Given the description of an element on the screen output the (x, y) to click on. 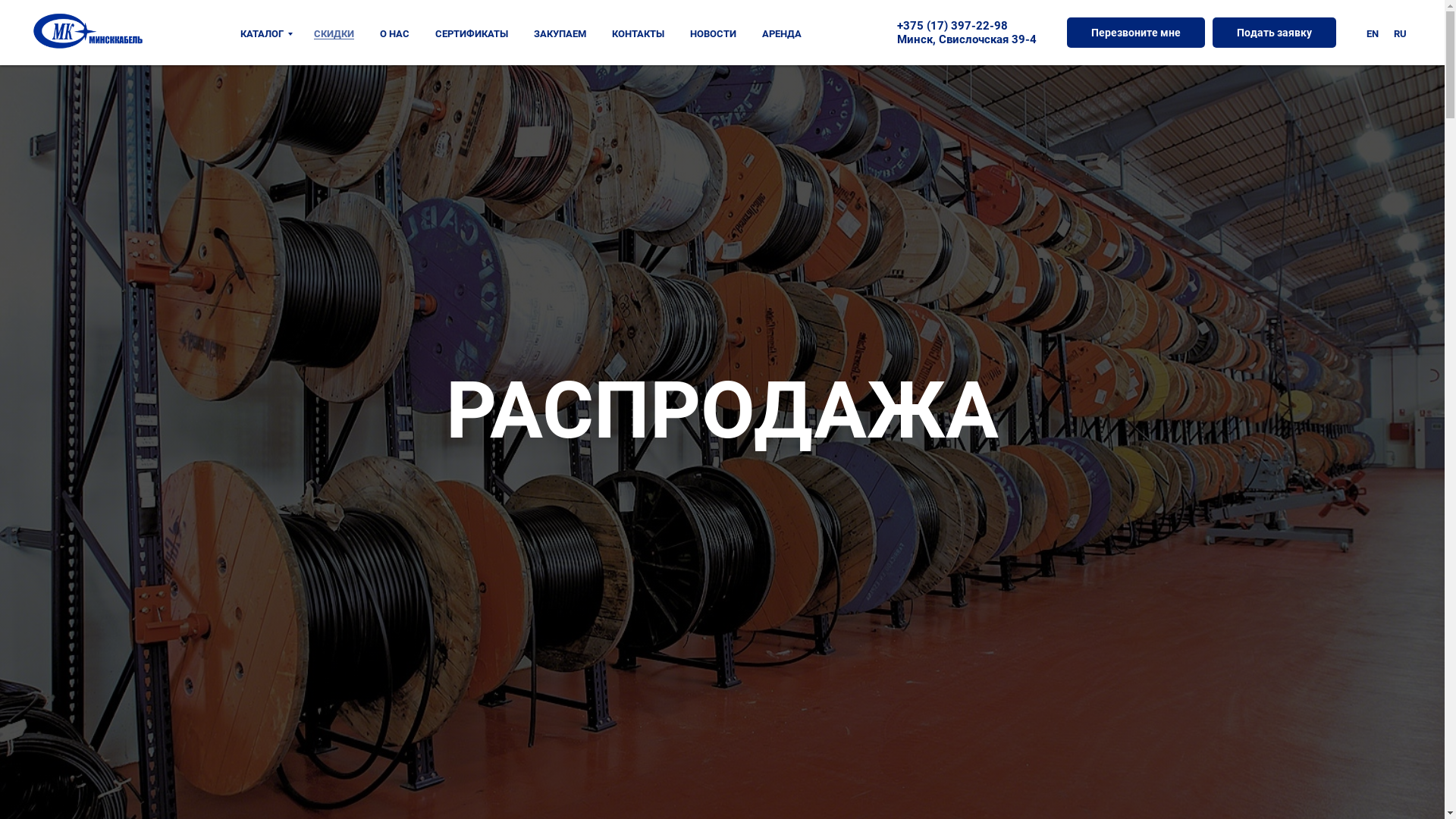
+375 (17) 397-22-9 Element type: text (949, 25)
RU Element type: text (1399, 33)
EN Element type: text (1372, 33)
